Given the description of an element on the screen output the (x, y) to click on. 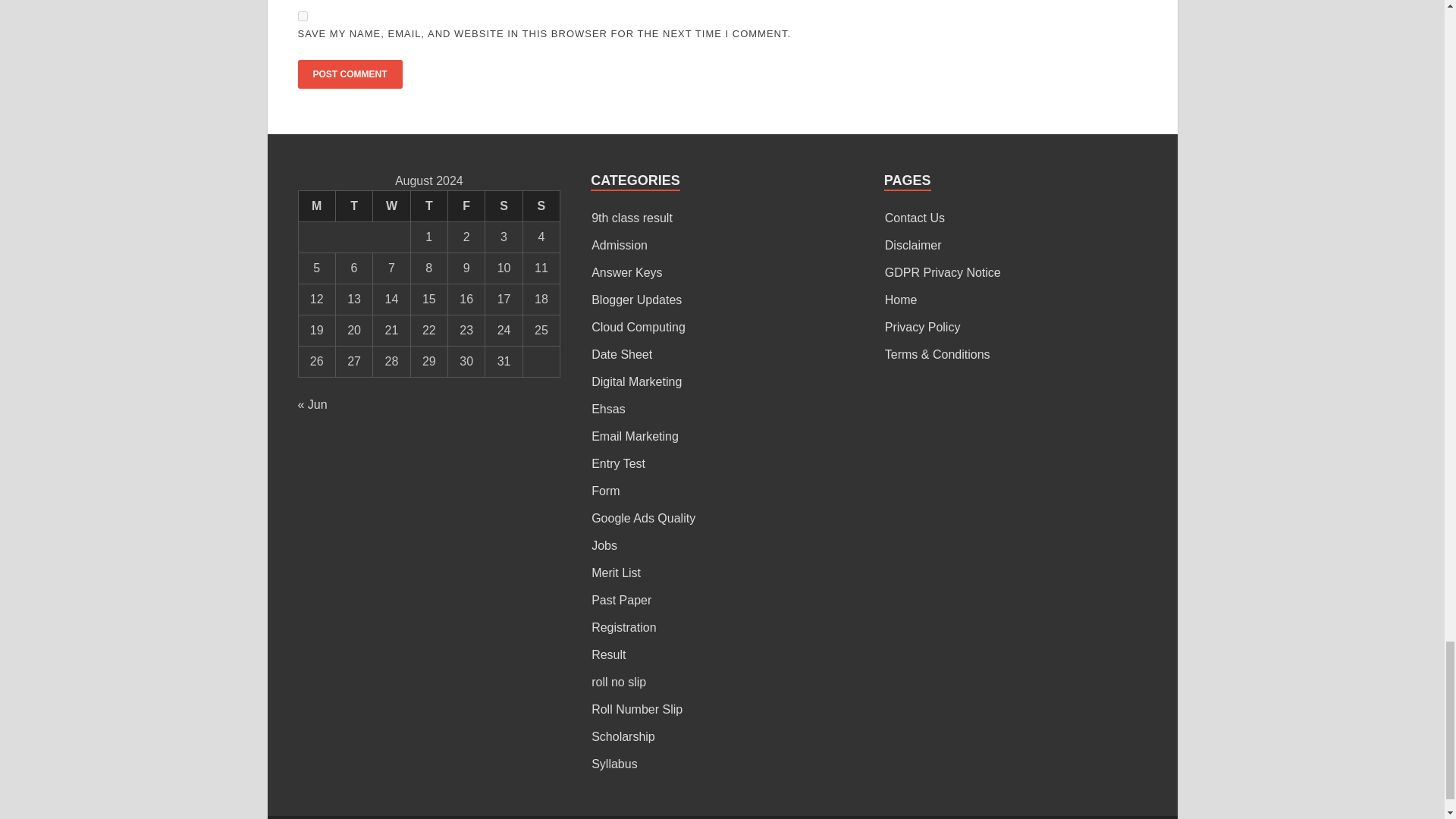
Monday (316, 205)
Thursday (428, 205)
Wednesday (391, 205)
Post Comment (349, 73)
Friday (465, 205)
Tuesday (353, 205)
yes (302, 16)
